Given the description of an element on the screen output the (x, y) to click on. 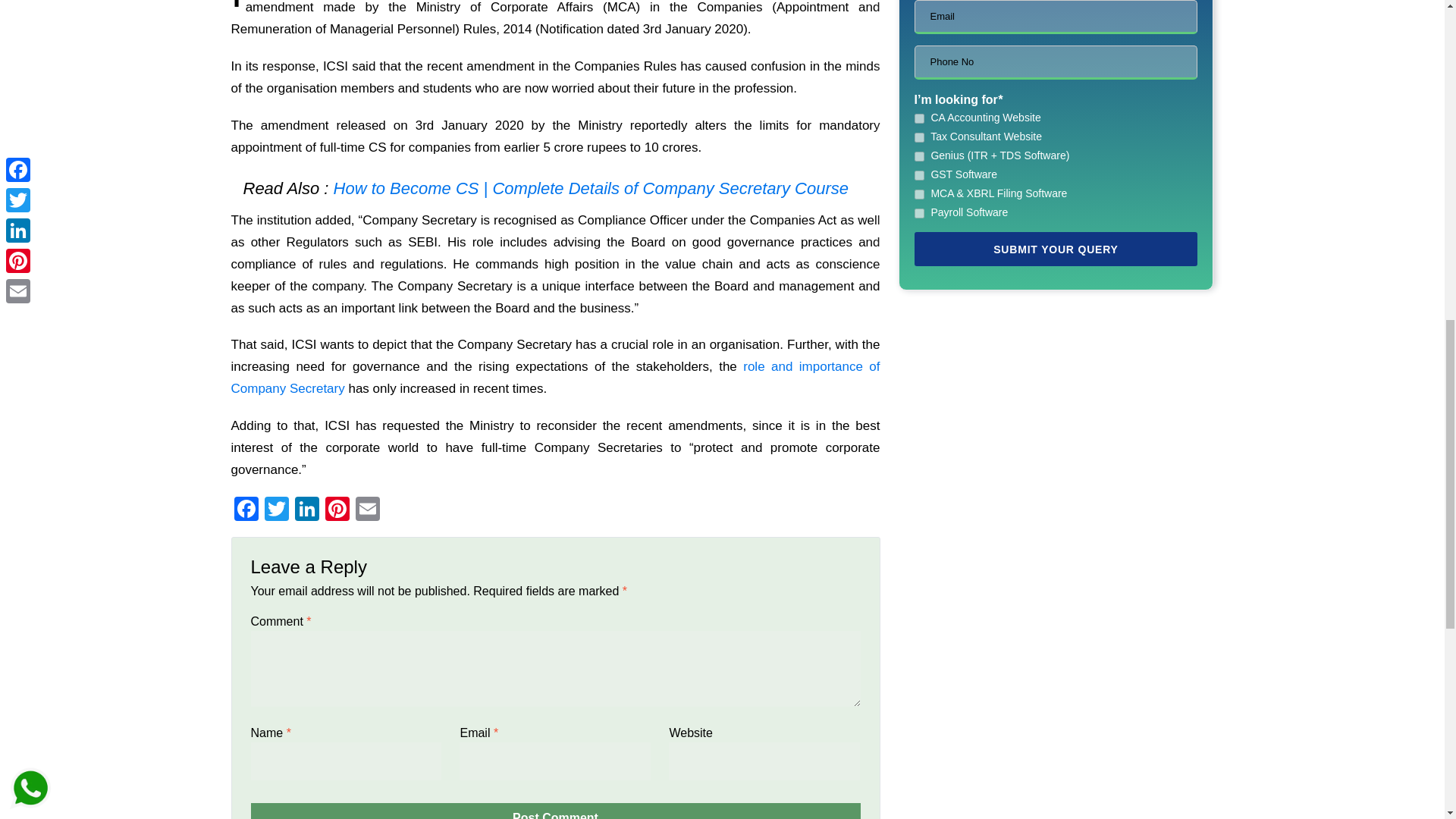
Post Comment (555, 811)
Tax Consultant Website (919, 137)
Email (366, 510)
LinkedIn (306, 510)
Submit Your Query (1056, 248)
Submit Your Query (1056, 248)
LinkedIn (306, 510)
Post Comment (555, 811)
Facebook (245, 510)
Facebook (245, 510)
